Given the description of an element on the screen output the (x, y) to click on. 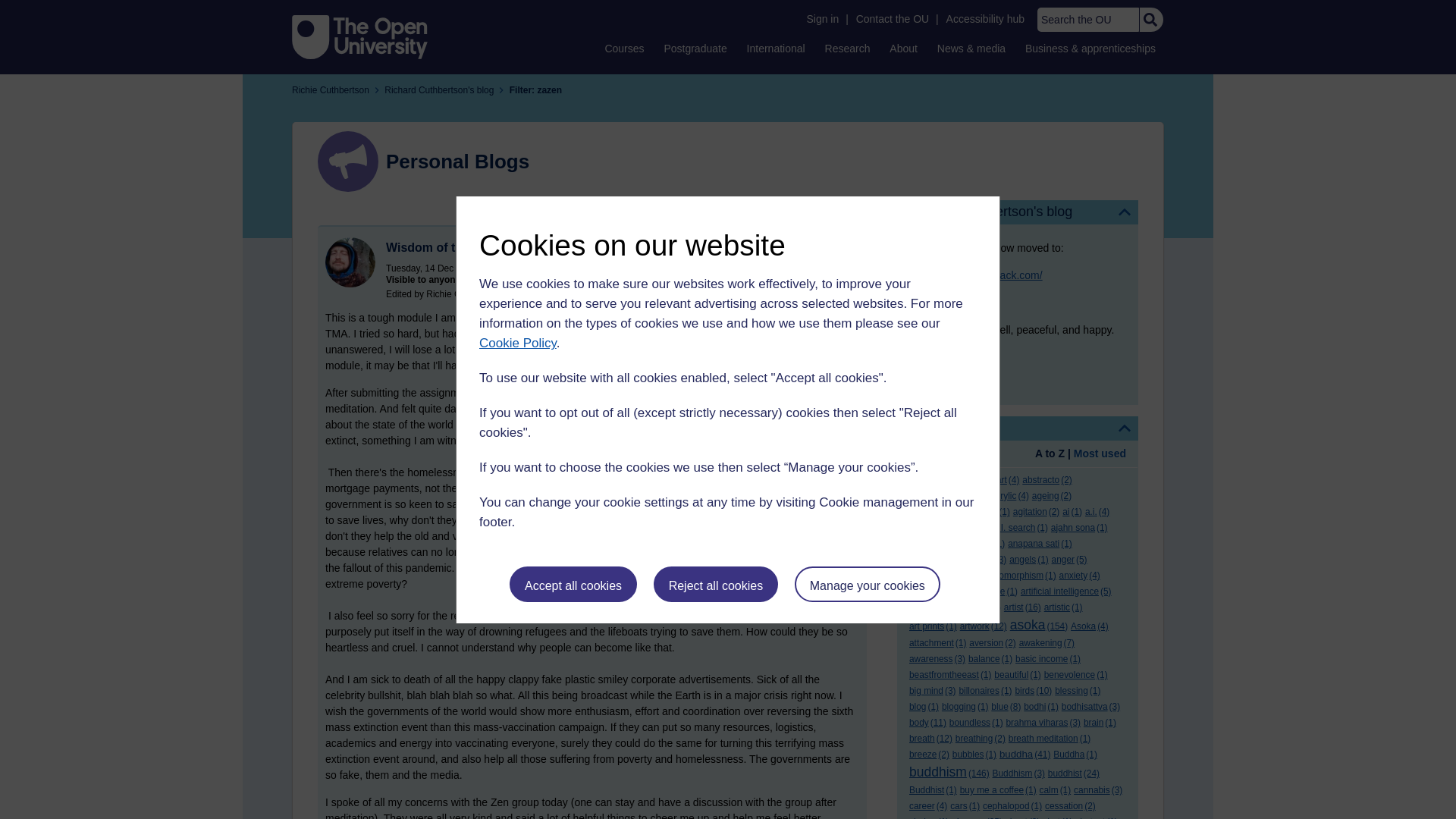
Richard Cuthbertson's blog (1017, 211)
Accessibility hub (985, 19)
Manage your cookies (867, 583)
Help with Order: (951, 454)
Reject all cookies (715, 583)
Tags (1017, 428)
Cookie Policy (517, 342)
International (775, 48)
Postgraduate (695, 48)
About (903, 48)
Search (1149, 19)
Accept all cookies (573, 583)
Search (1149, 19)
Courses (623, 48)
